Given the description of an element on the screen output the (x, y) to click on. 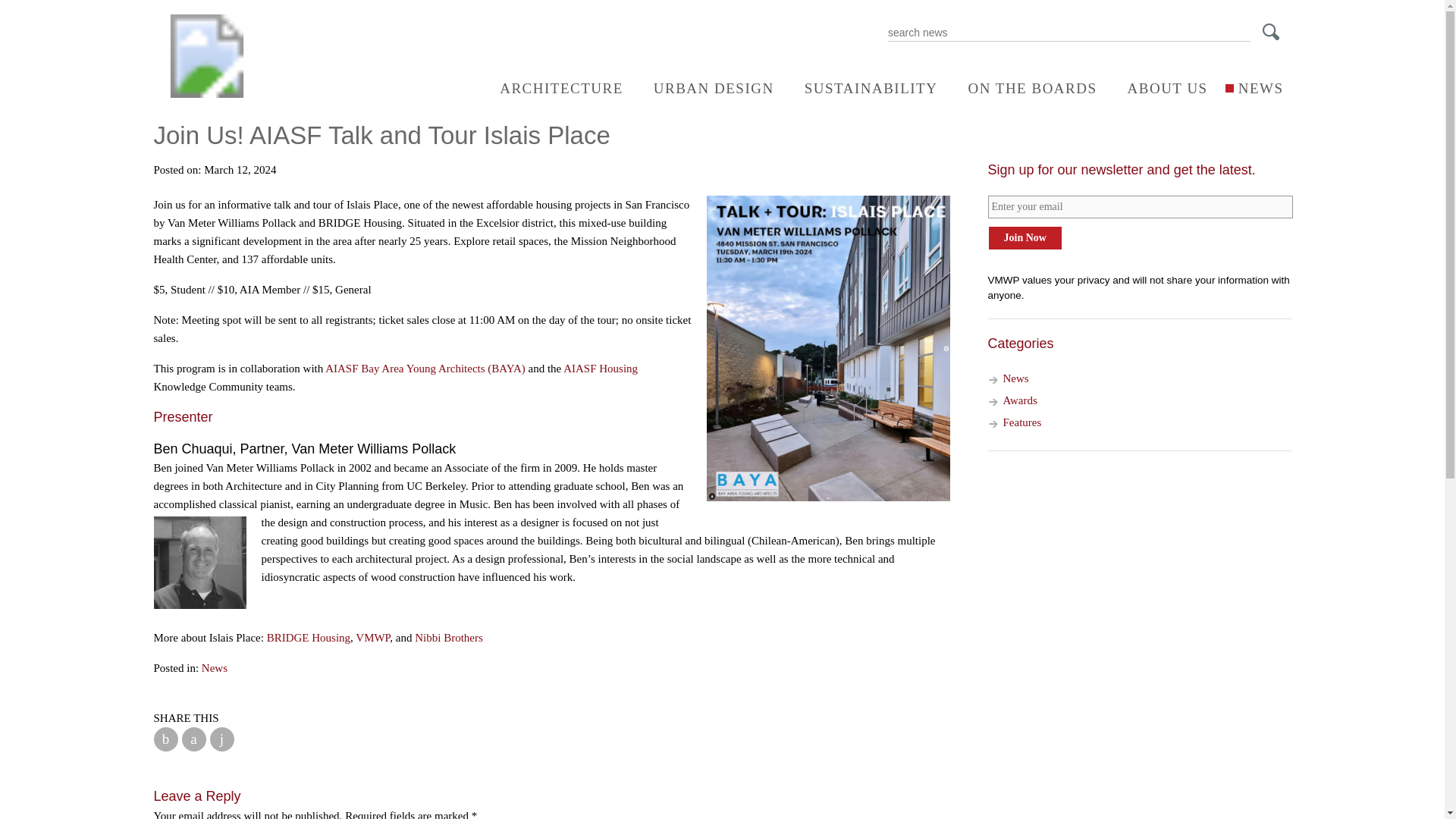
AIASF Housing (600, 368)
Van Meter Williams Pollack LLP (205, 92)
ABOUT US (1160, 88)
SUSTAINABILITY (863, 88)
ON THE BOARDS (1024, 88)
VMWP (372, 637)
NEWS (1253, 88)
BRIDGE Housing (308, 637)
News (1015, 378)
Join Now (1024, 238)
